Given the description of an element on the screen output the (x, y) to click on. 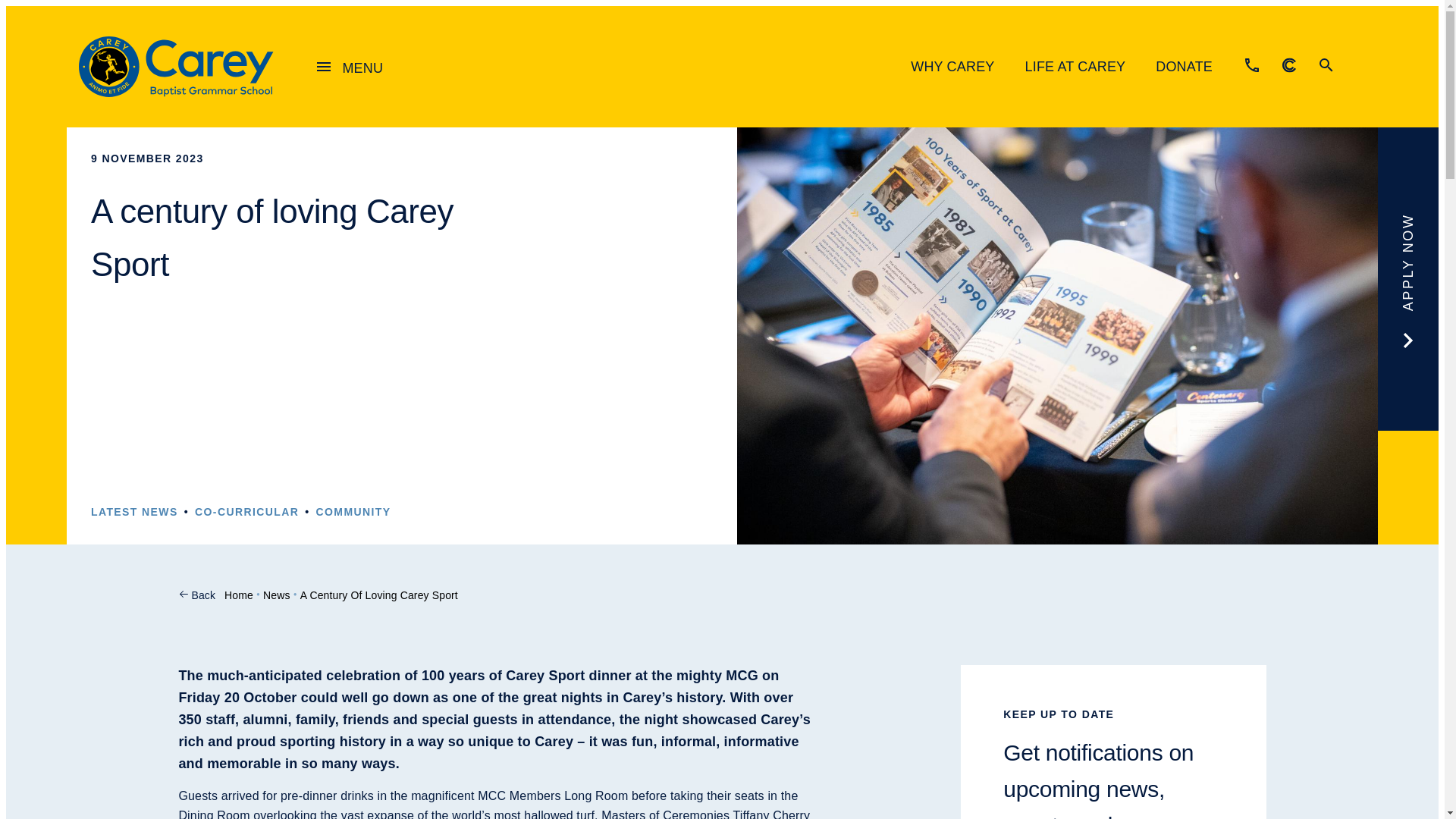
Home (238, 595)
A Century Of Loving Carey Sport (378, 595)
WHY CAREY (952, 66)
Back (202, 595)
CO-CURRICULAR (246, 512)
News (276, 595)
LATEST NEWS (133, 512)
LIFE AT CAREY (1075, 66)
DONATE (1184, 66)
MENU (347, 67)
COMMUNITY (353, 512)
